Given the description of an element on the screen output the (x, y) to click on. 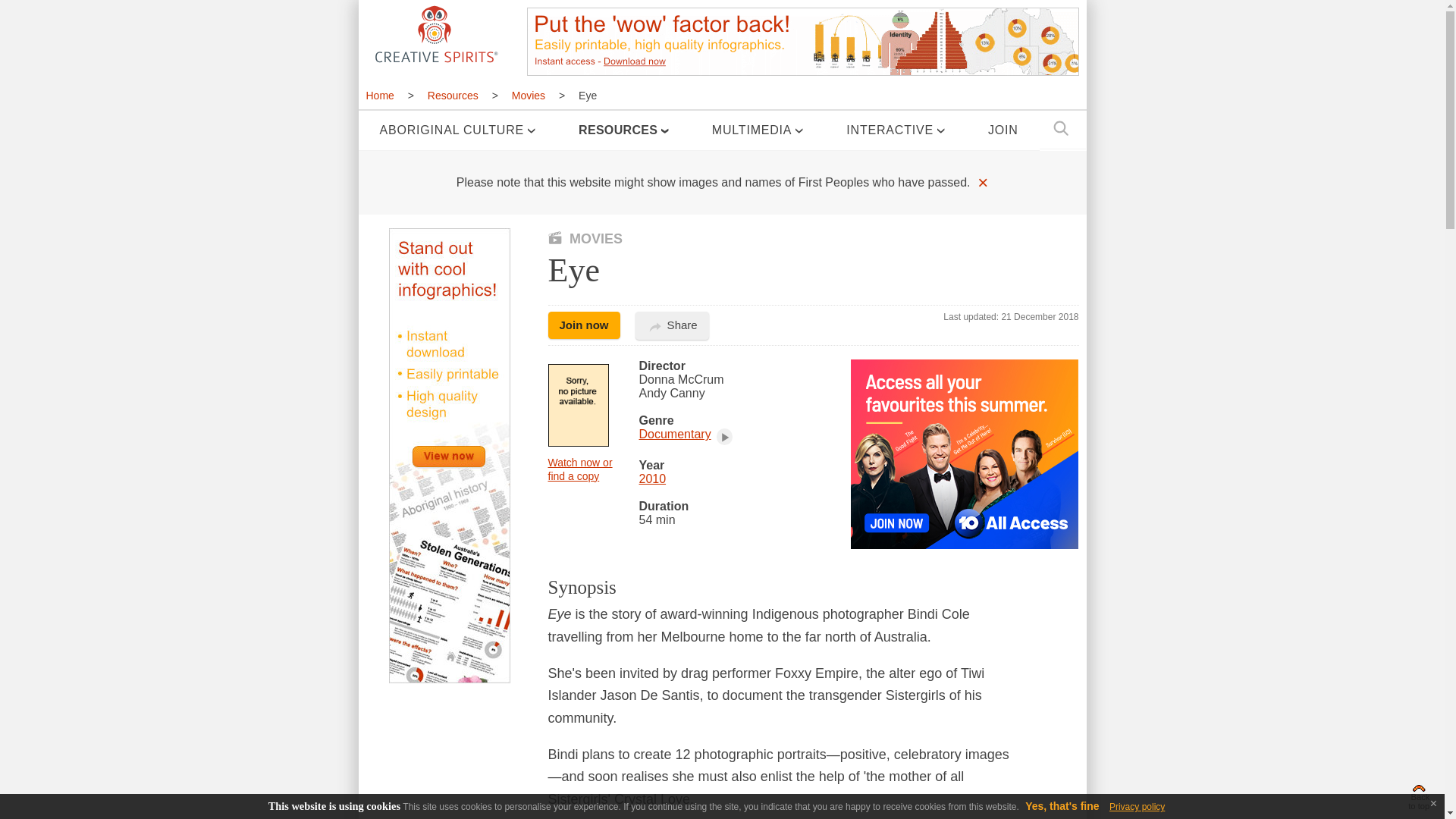
Home (384, 94)
ABORIGINAL CULTURE (457, 130)
RESOURCES (623, 130)
Resources (452, 94)
Movies (528, 94)
Creative Spirits (433, 33)
